Given the description of an element on the screen output the (x, y) to click on. 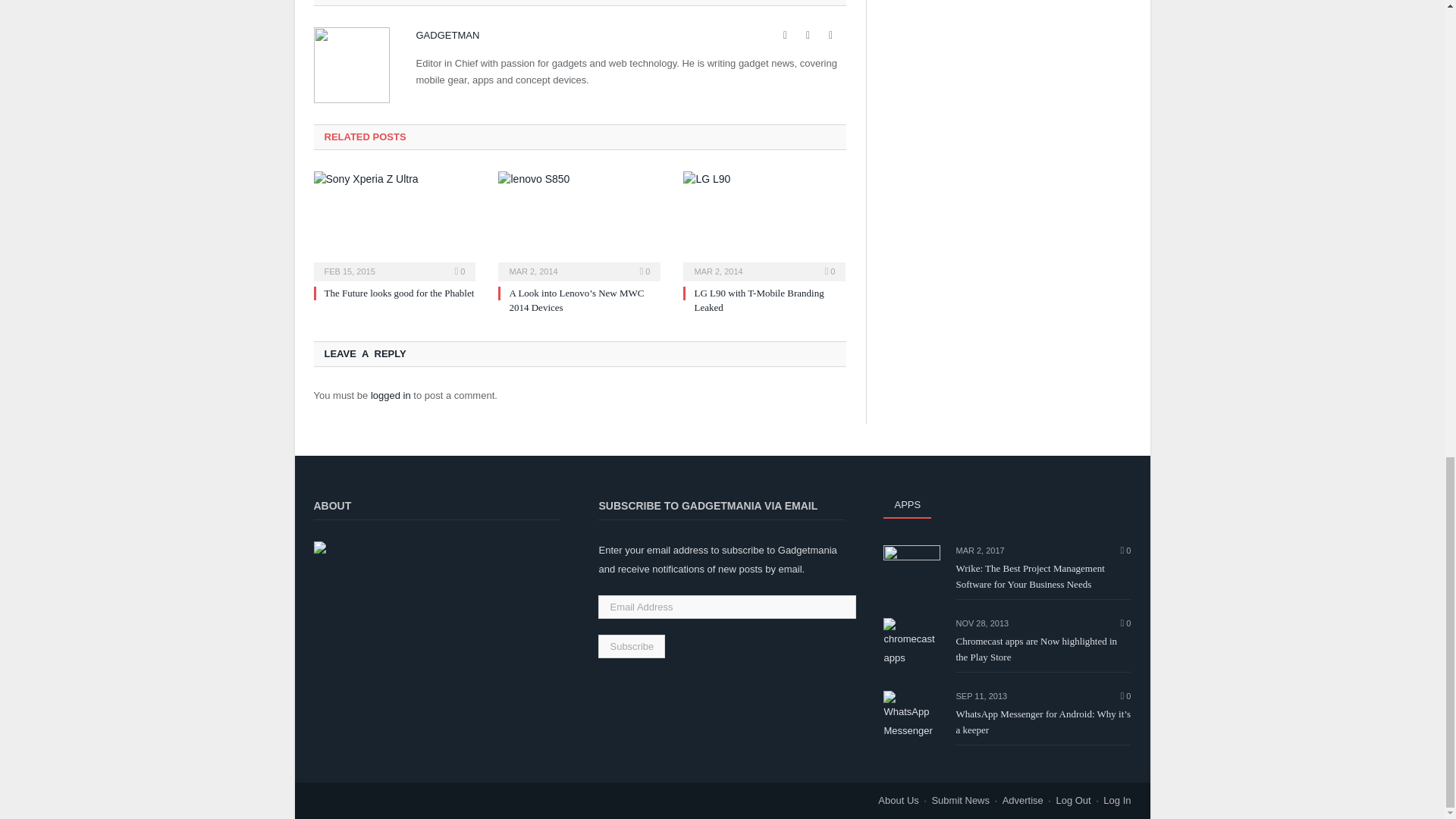
Subscribe (631, 646)
